Given the description of an element on the screen output the (x, y) to click on. 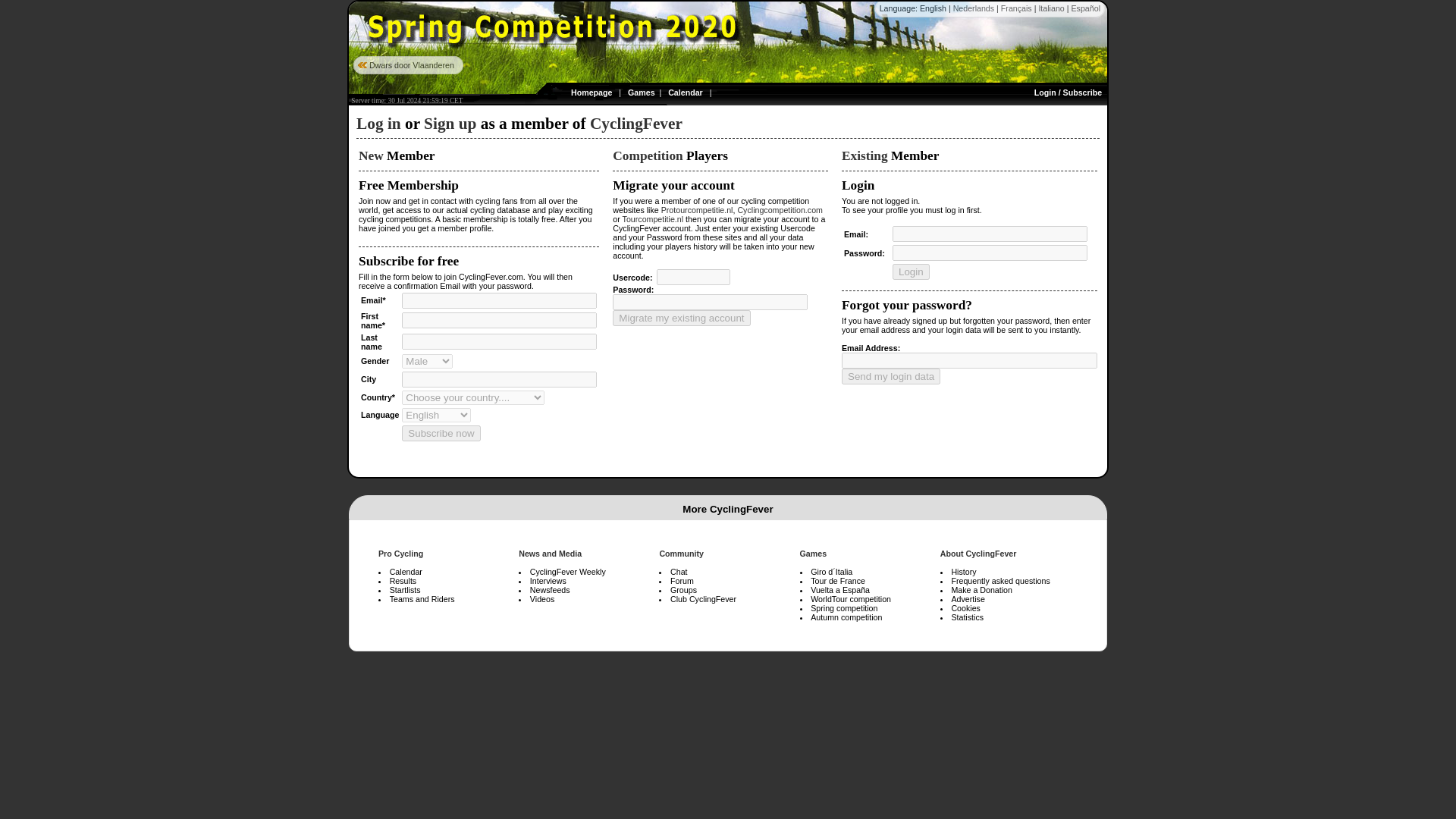
Games (813, 552)
Interviews (547, 580)
Send my login data (890, 376)
Teams and Riders (422, 598)
Forum (681, 580)
About CyclingFever (978, 552)
CyclingFever Weekly (567, 571)
Cyclingcompetition.com (779, 209)
Community (681, 552)
Send my login data (890, 376)
Nederlands (973, 8)
Newsfeeds (549, 589)
Protourcompetitie.nl (697, 209)
Homepage (590, 92)
Groups (683, 589)
